Given the description of an element on the screen output the (x, y) to click on. 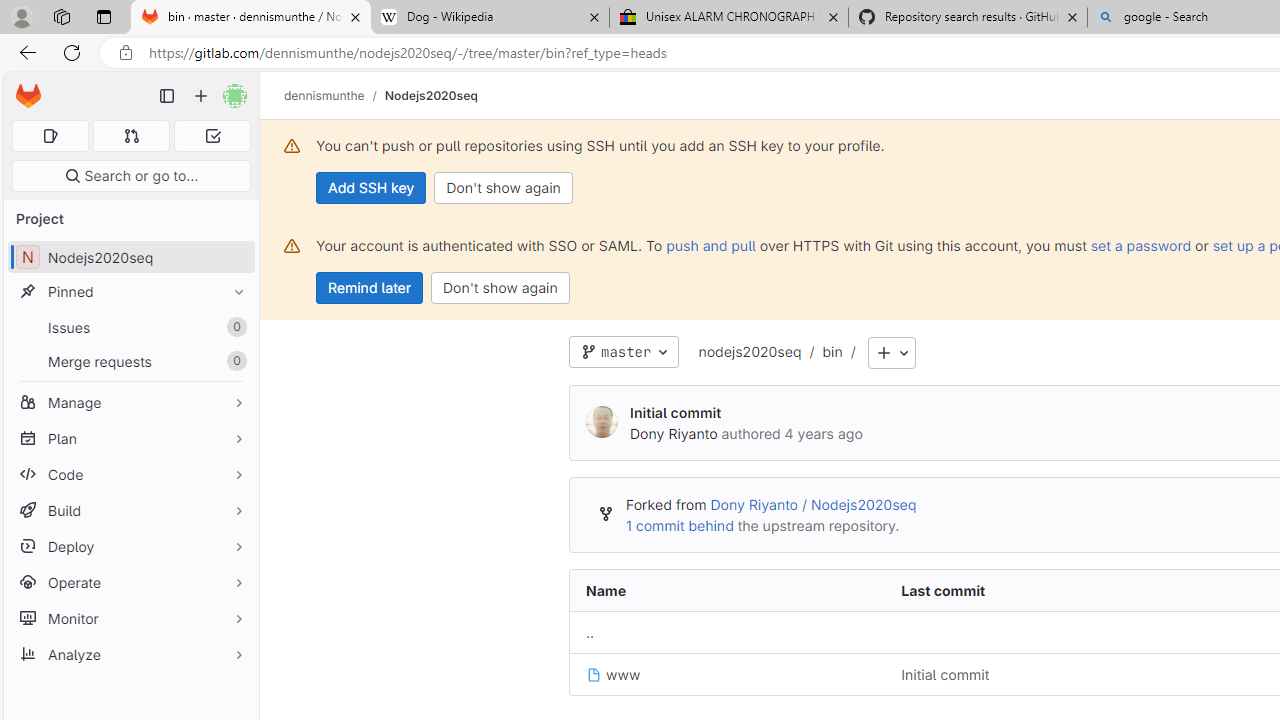
Dony Riyanto / Nodejs2020seq (813, 505)
Primary navigation sidebar (167, 96)
Pinned (130, 291)
N Nodejs2020seq (130, 257)
/bin (822, 353)
Don't show again (500, 287)
Monitor (130, 618)
Analyze (130, 654)
To-Do list 0 (212, 136)
Add SSH key (371, 187)
Merge requests 0 (130, 361)
Operate (130, 582)
